Given the description of an element on the screen output the (x, y) to click on. 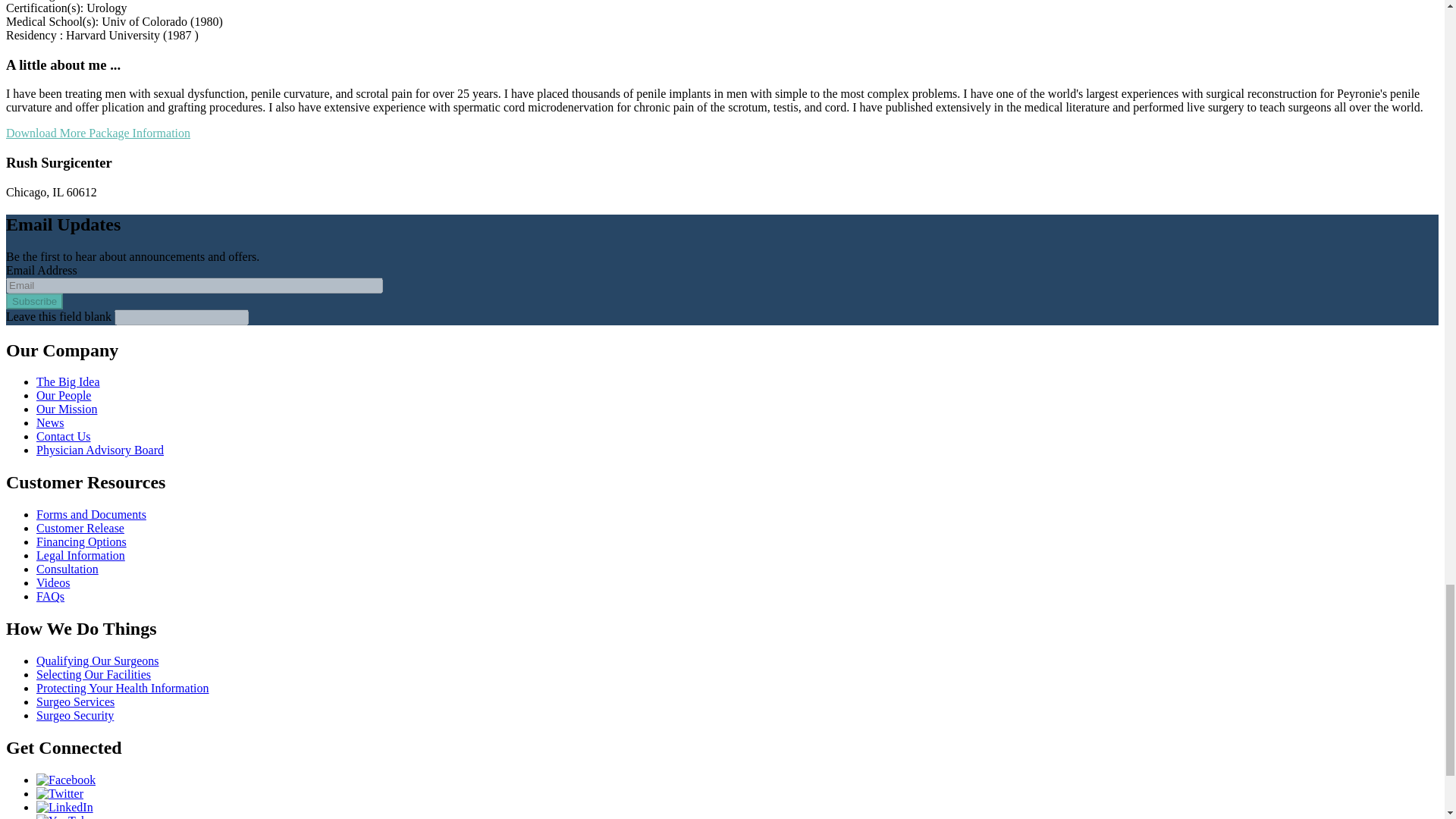
This field is required. (82, 283)
Subscribe (33, 301)
